Given the description of an element on the screen output the (x, y) to click on. 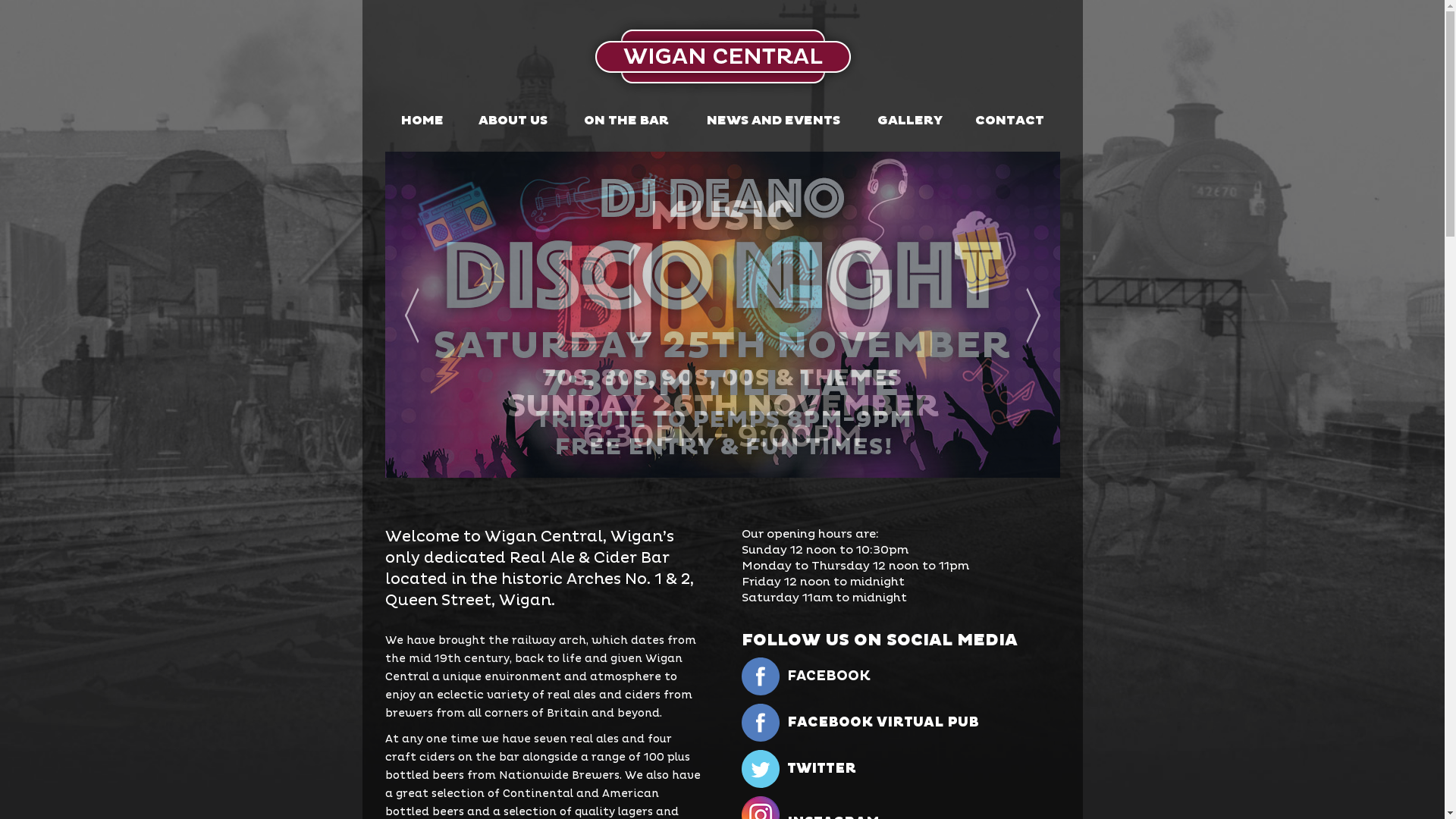
FACEBOOK VIRTUAL PUB Element type: text (923, 728)
NEWS AND EVENTS Element type: text (773, 121)
TWITTER Element type: text (923, 774)
GALLERY Element type: text (909, 121)
ON THE BAR Element type: text (626, 121)
CONTACT Element type: text (1009, 121)
HOME Element type: text (422, 121)
ABOUT US Element type: text (512, 121)
